Given the description of an element on the screen output the (x, y) to click on. 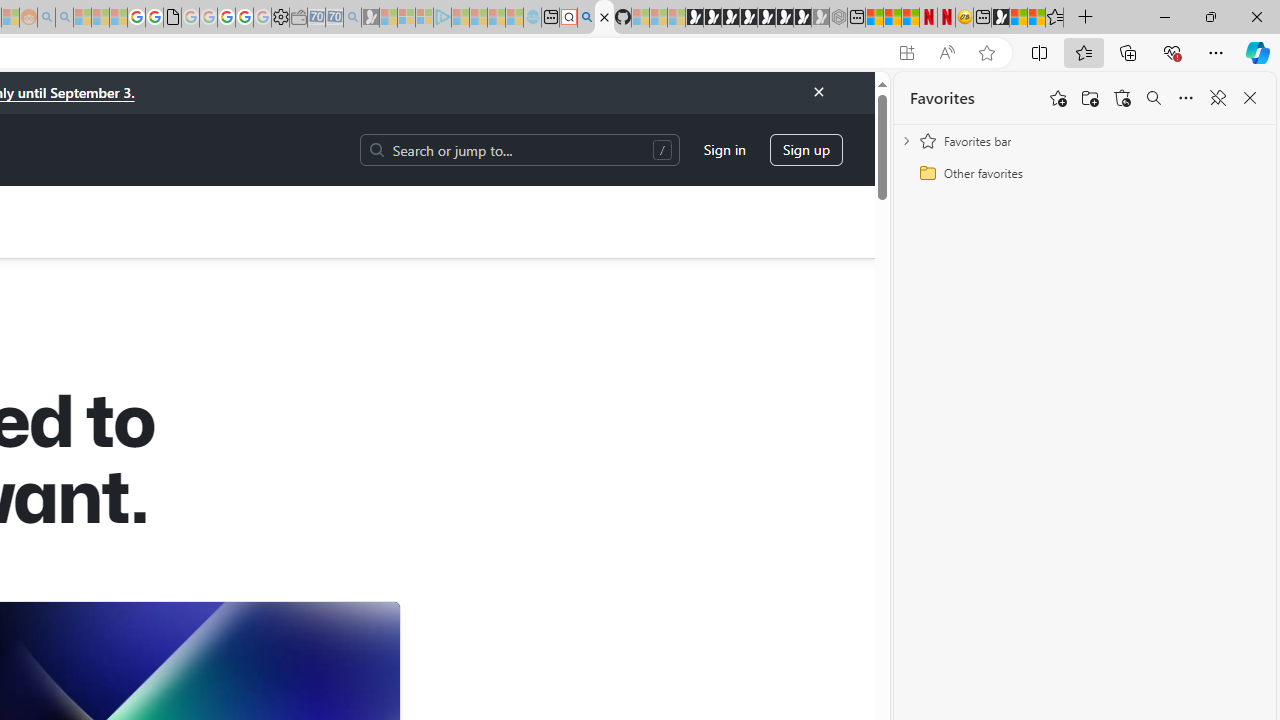
Search favorites (1153, 98)
Add folder (1089, 98)
App available. Install GitHub (906, 53)
